Given the description of an element on the screen output the (x, y) to click on. 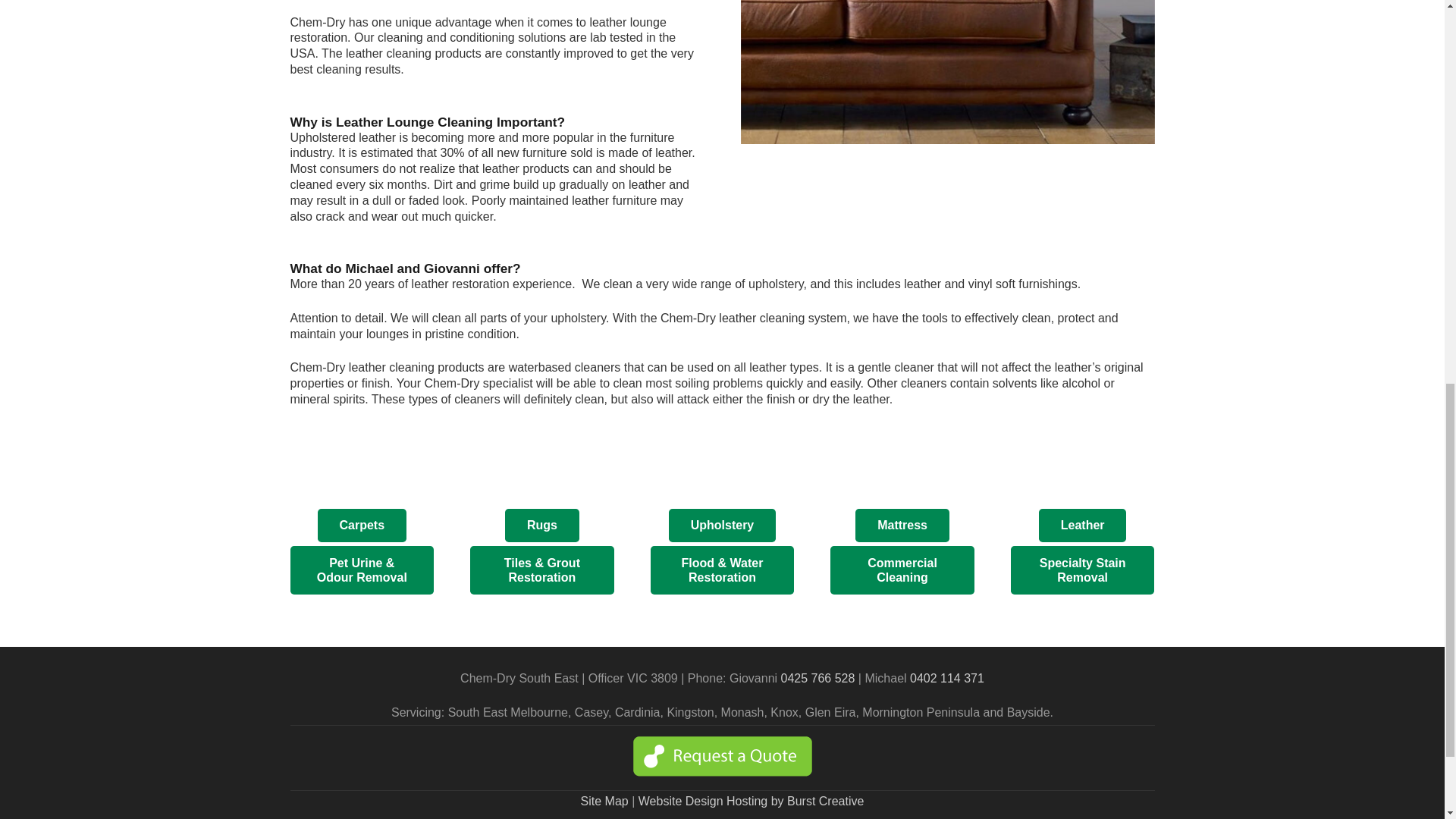
Upholstery (722, 525)
Carpets (361, 525)
Back to top (1413, 26)
Mattress (902, 525)
Commercial Cleaning (901, 570)
0402 114 371 (947, 677)
Site Map (604, 800)
Specialty Stain Removal (1082, 570)
Rugs (542, 525)
0425 766 528 (818, 677)
Leather (1082, 525)
Website Design Hosting by Burst Creative (751, 800)
